Given the description of an element on the screen output the (x, y) to click on. 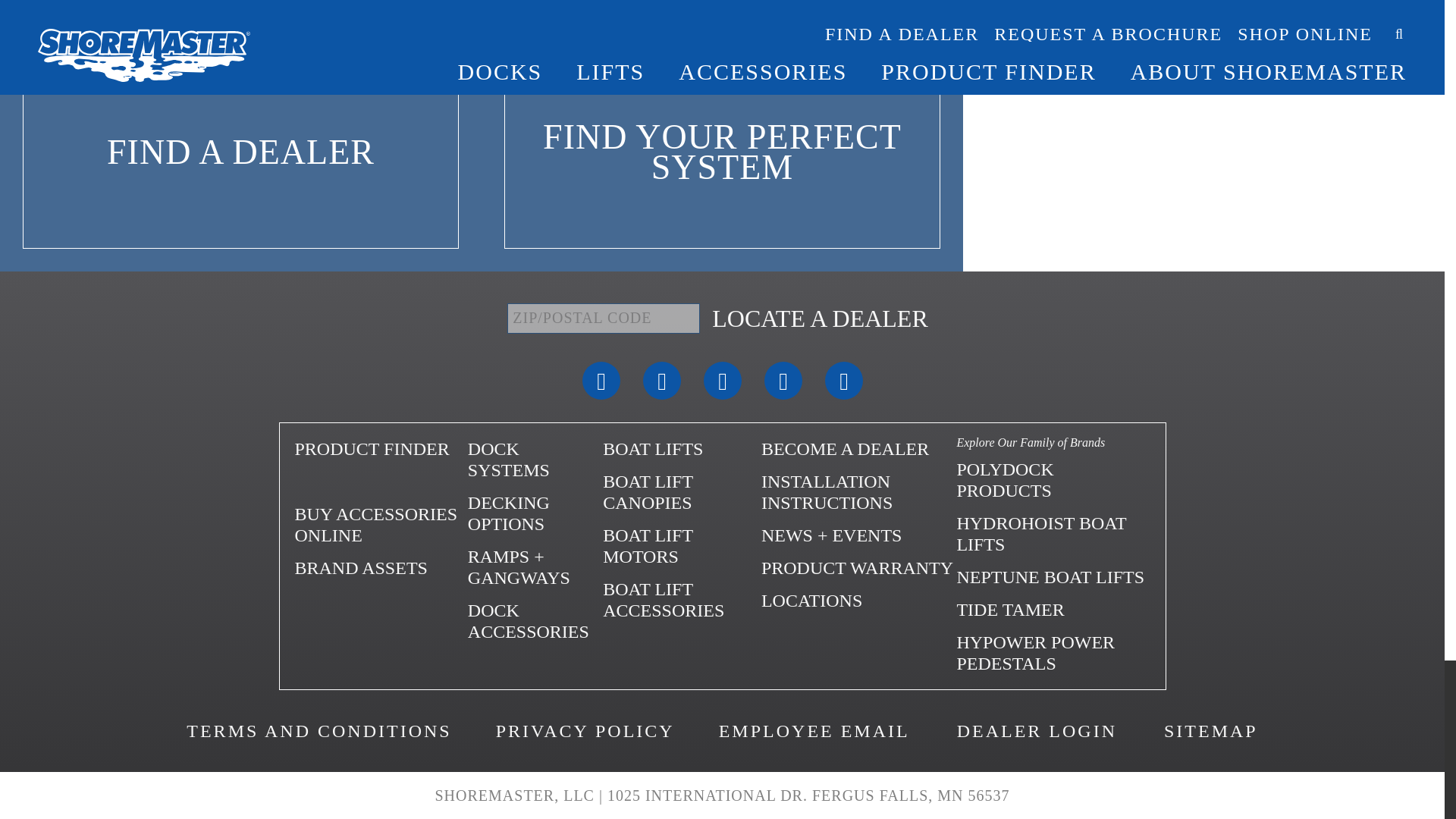
Photo-Video (360, 567)
Product Finder (371, 448)
ShoreMaster.com (303, 481)
Dock Models (508, 458)
